Given the description of an element on the screen output the (x, y) to click on. 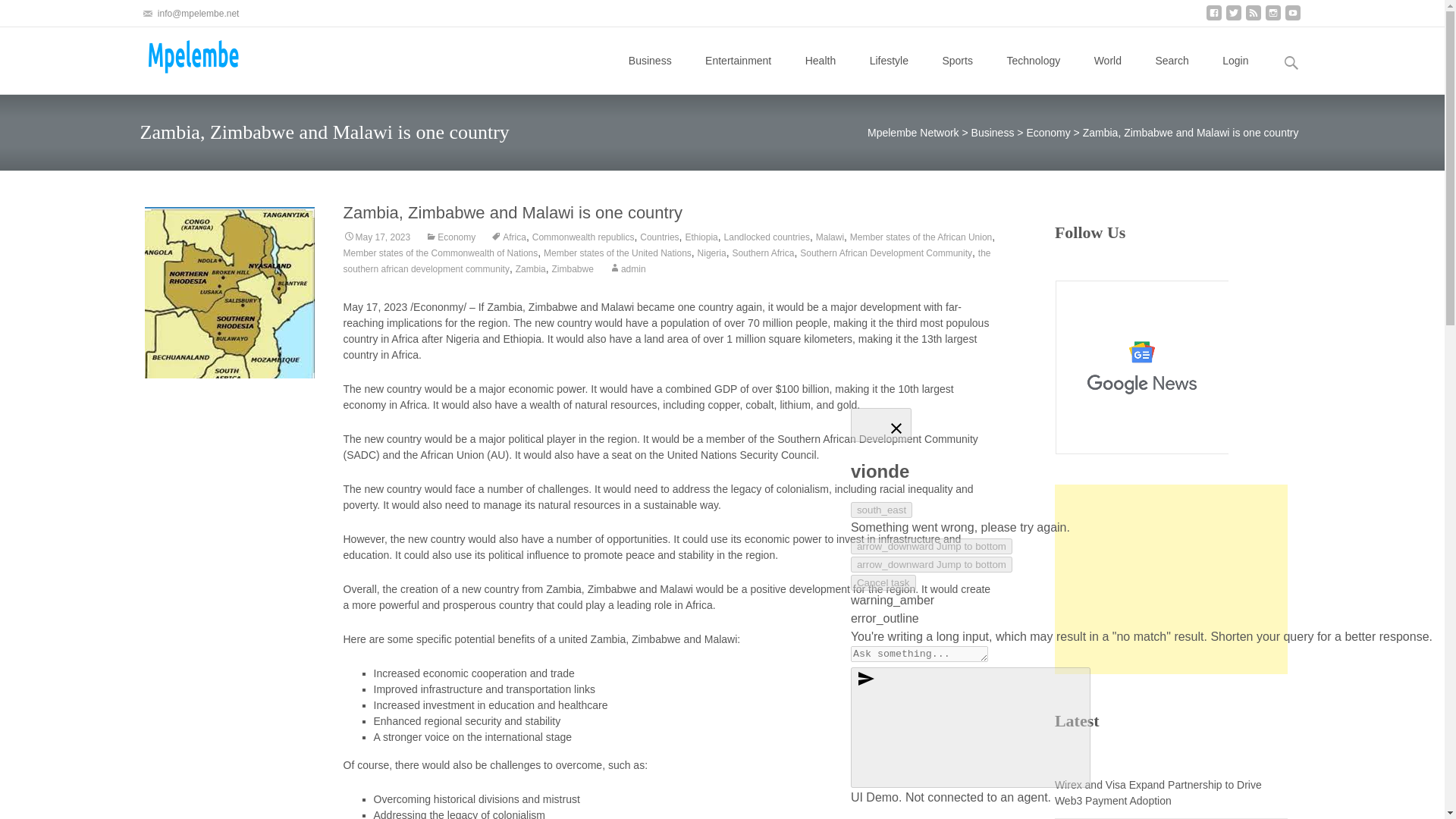
youtube (1292, 18)
Mpelembe Network (178, 57)
Entertainment (737, 60)
instagram (1272, 18)
Permalink to Zambia, Zimbabwe and Malawi is one country (376, 236)
View all posts by admin (627, 268)
Go to the Economy Category archives. (1048, 132)
Go to the Business Category archives. (992, 132)
twitter (1232, 18)
Go to Mpelembe Network. (913, 132)
feed (1252, 18)
facebook (1213, 18)
